Given the description of an element on the screen output the (x, y) to click on. 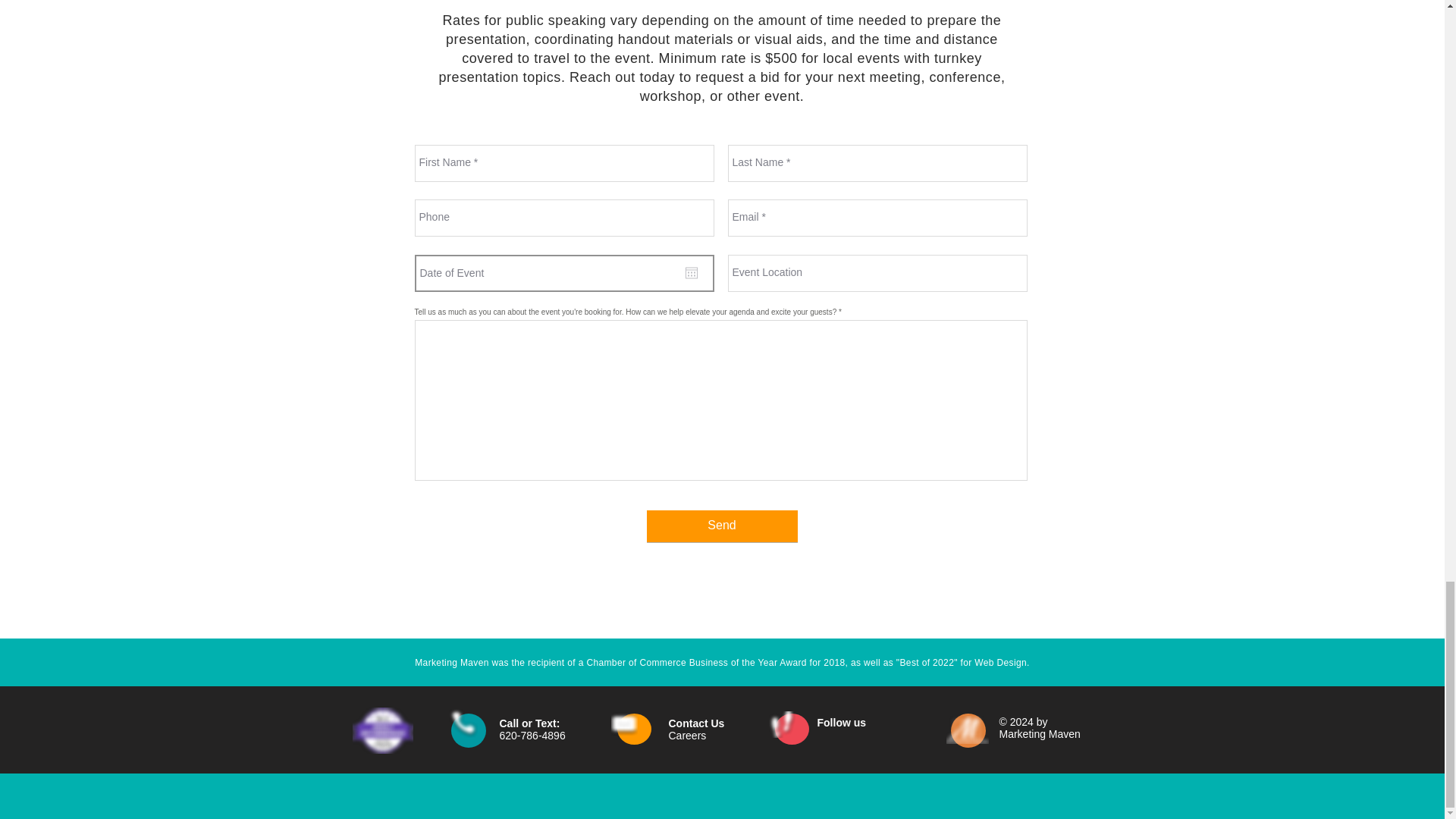
Contact Us (696, 723)
Send (721, 526)
Careers (687, 735)
620-786-4896 (531, 735)
